Given the description of an element on the screen output the (x, y) to click on. 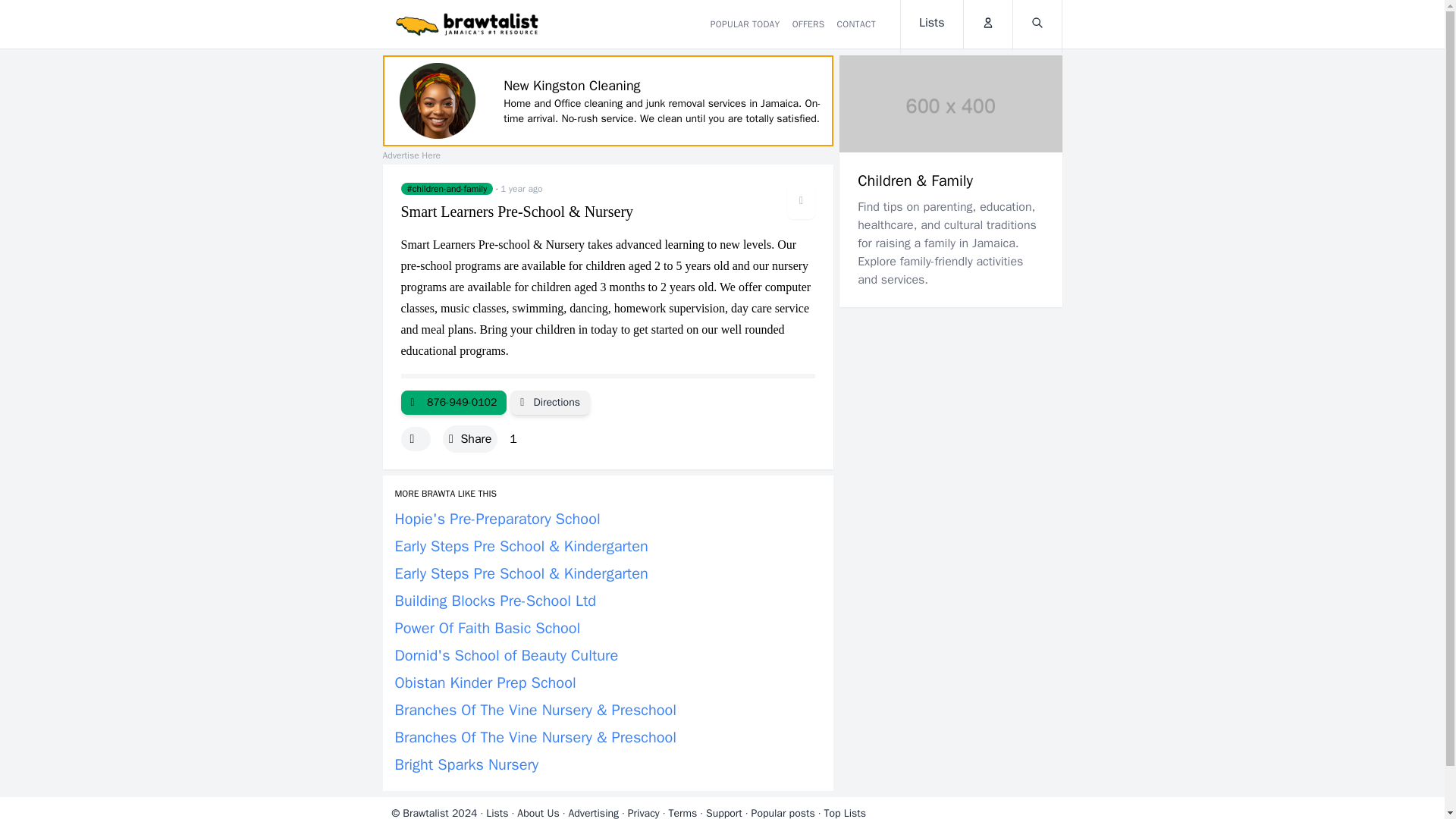
Support (724, 812)
Advertise Here (410, 155)
POPULAR TODAY (745, 24)
Top Lists (845, 812)
About Us (537, 812)
Building Blocks Pre-School Ltd (494, 600)
Like (414, 438)
Obistan Kinder Prep School (484, 682)
Hopie's Pre-Preparatory School (496, 518)
Account (986, 24)
Lists (931, 26)
Popular posts (783, 812)
View on Map (550, 402)
